Given the description of an element on the screen output the (x, y) to click on. 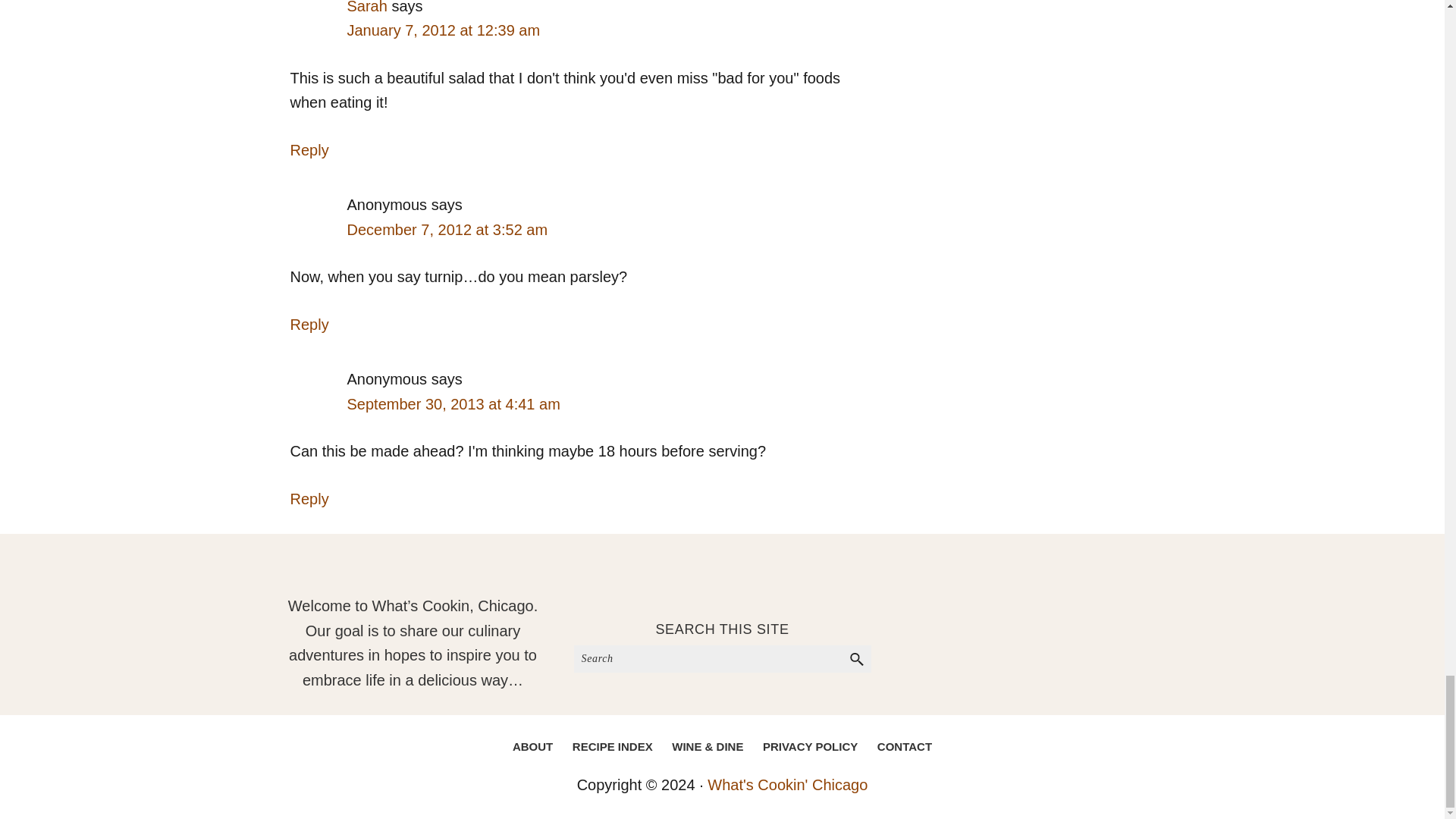
Sarah (367, 7)
January 7, 2012 at 12:39 am (443, 30)
